Given the description of an element on the screen output the (x, y) to click on. 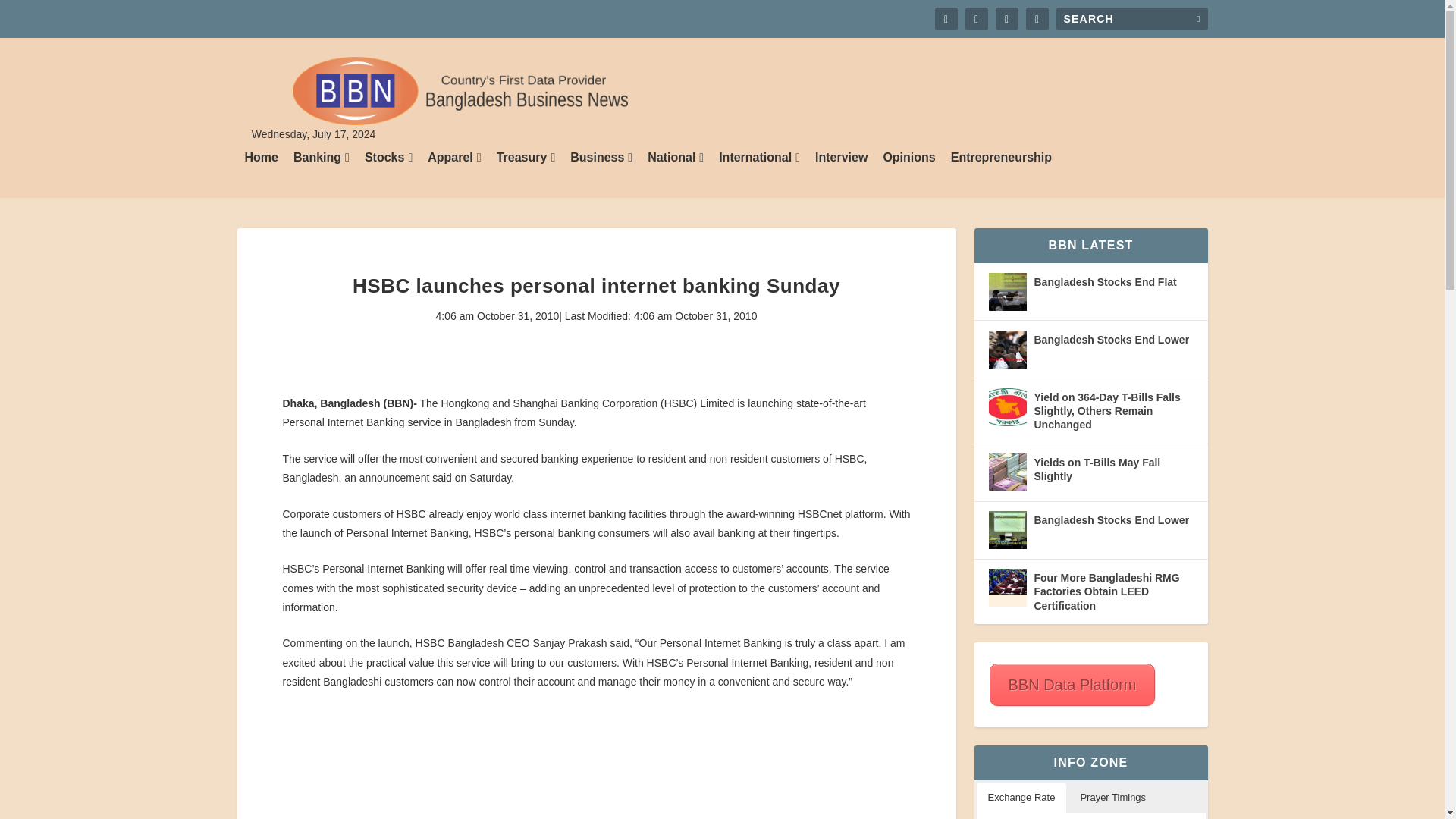
Search for: (1131, 18)
Stocks (388, 174)
Apparel (454, 174)
Treasury (526, 174)
Advertisement (596, 763)
Business (600, 174)
Home (261, 174)
Banking (321, 174)
